Given the description of an element on the screen output the (x, y) to click on. 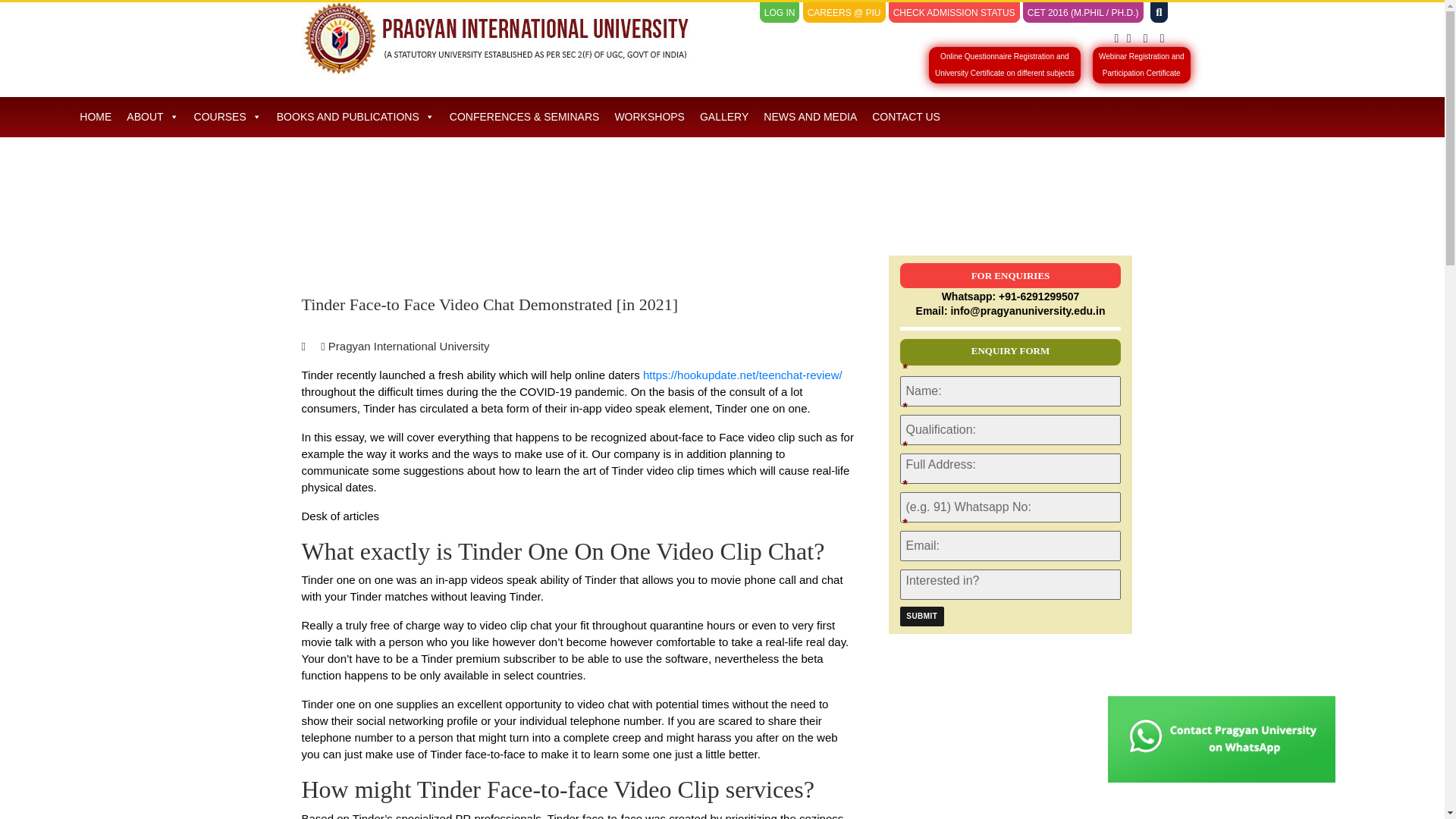
BOOKS AND PUBLICATIONS (355, 116)
ABOUT (152, 116)
HOME (95, 116)
CHECK ADMISSION STATUS (1142, 64)
Submit (953, 12)
LOG IN (921, 616)
COURSES (779, 12)
